Given the description of an element on the screen output the (x, y) to click on. 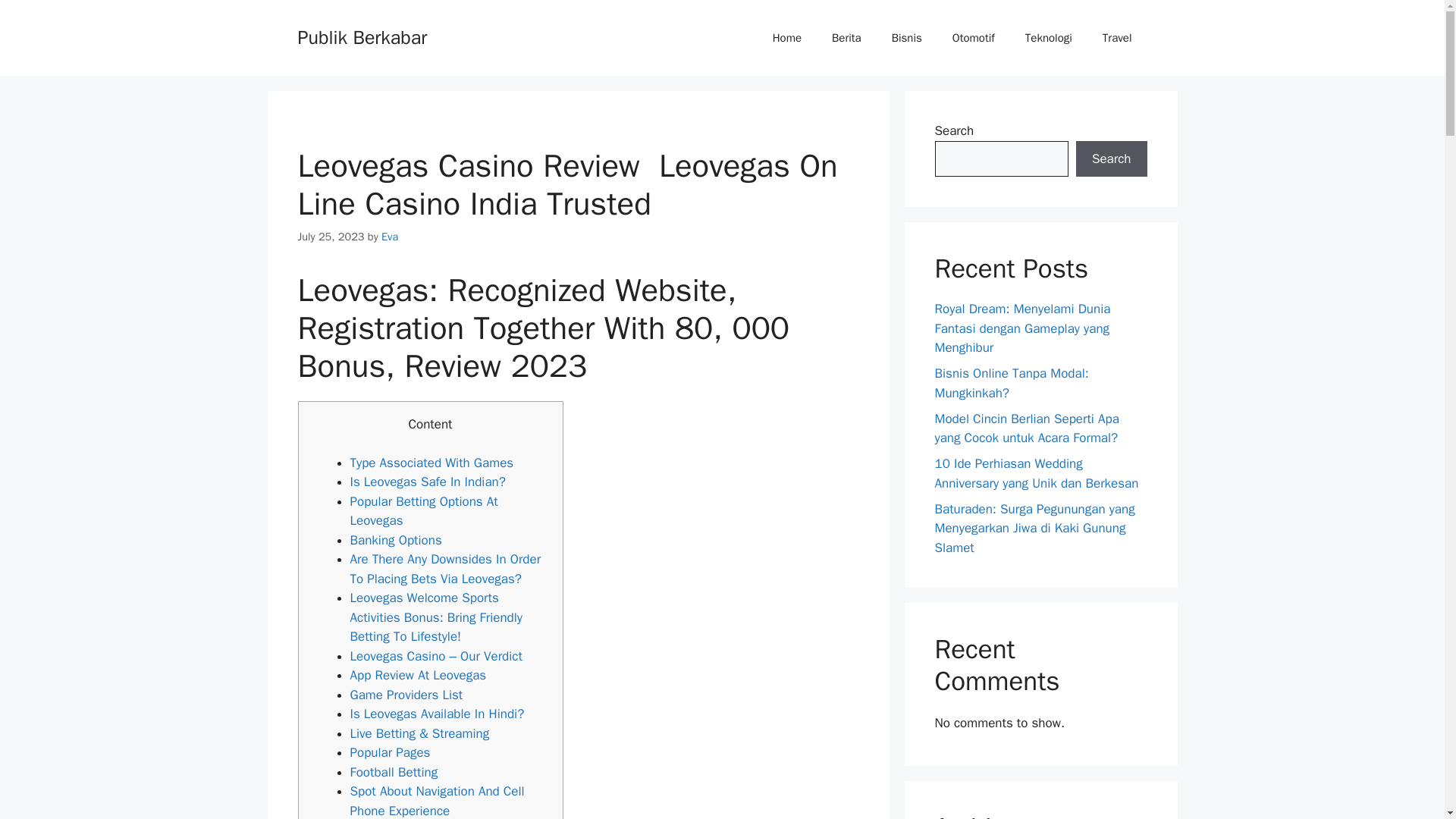
Spot About Navigation And Cell Phone Experience (437, 800)
Publik Berkabar (361, 37)
Otomotif (973, 37)
Popular Betting Options At Leovegas (423, 511)
Bisnis (906, 37)
Berita (846, 37)
Type Associated With Games (431, 462)
Home (786, 37)
Travel (1117, 37)
Game Providers List (406, 694)
Teknologi (1048, 37)
Banking Options (396, 539)
Is Leovegas Available In Hindi? (437, 713)
Popular Pages (390, 752)
